Given the description of an element on the screen output the (x, y) to click on. 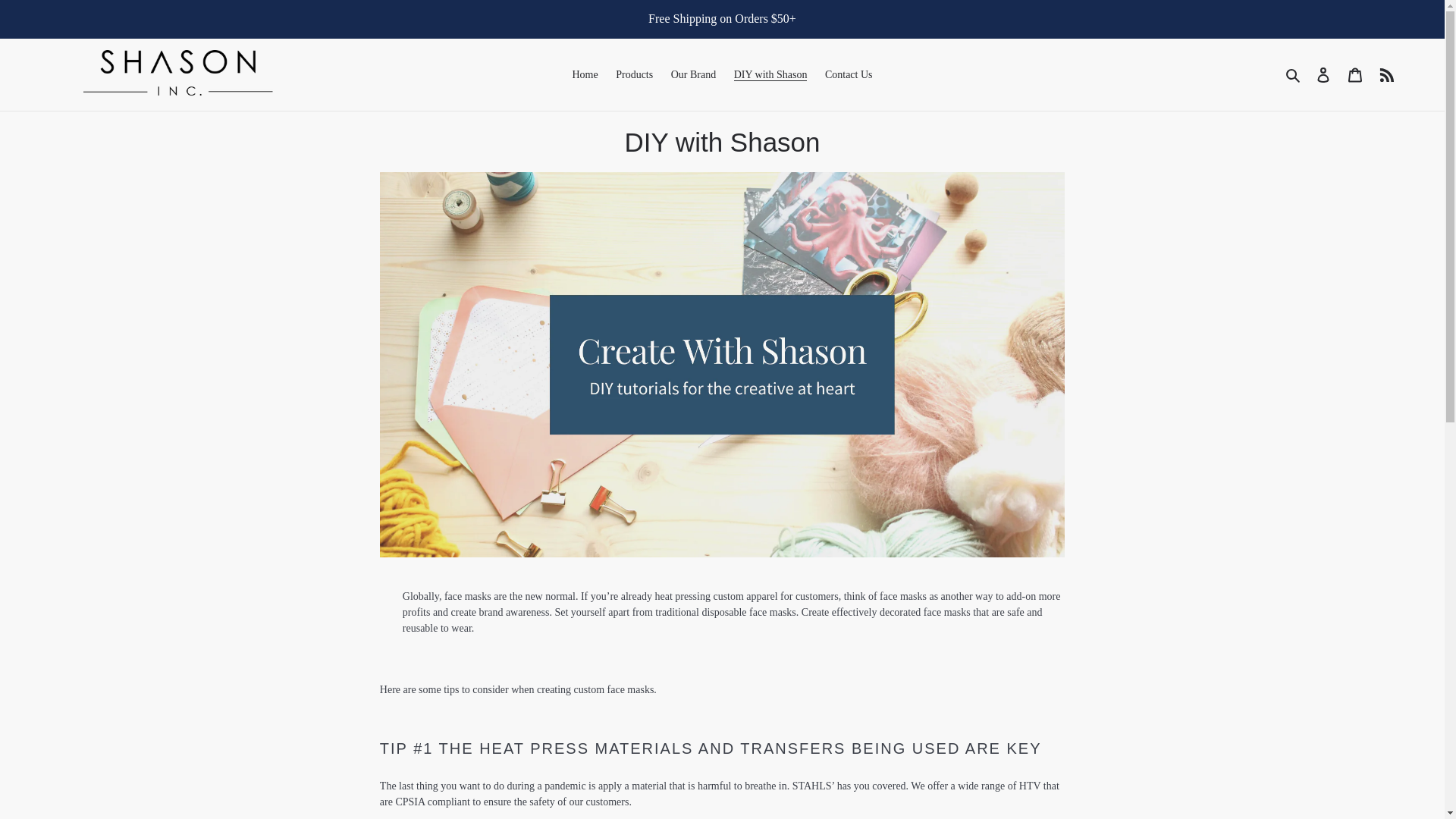
Contact Us (848, 74)
Log in (1323, 74)
Products (634, 74)
Cart (1355, 74)
Search (1294, 75)
Home (584, 74)
Our Brand (693, 74)
DIY with Shason (770, 74)
